Given the description of an element on the screen output the (x, y) to click on. 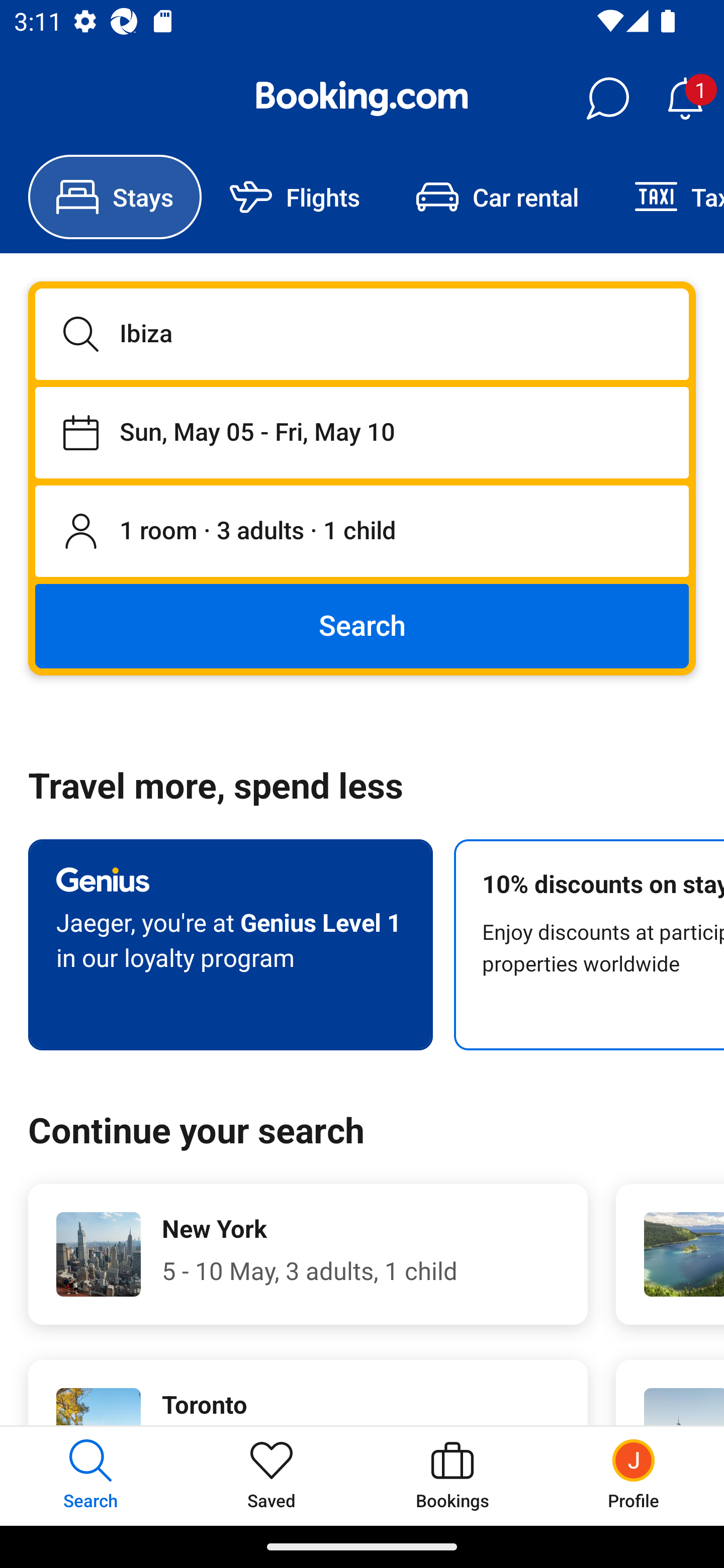
Messages (607, 98)
Notifications (685, 98)
Stays (114, 197)
Flights (294, 197)
Car rental (497, 197)
Taxi (665, 197)
Ibiza (361, 333)
Staying from Sun, May 05 until Fri, May 10 (361, 432)
1 room, 3 adults, 1 child (361, 531)
Search (361, 625)
New York 5 - 10 May, 3 adults, 1 child (307, 1253)
Saved (271, 1475)
Bookings (452, 1475)
Profile (633, 1475)
